Given the description of an element on the screen output the (x, y) to click on. 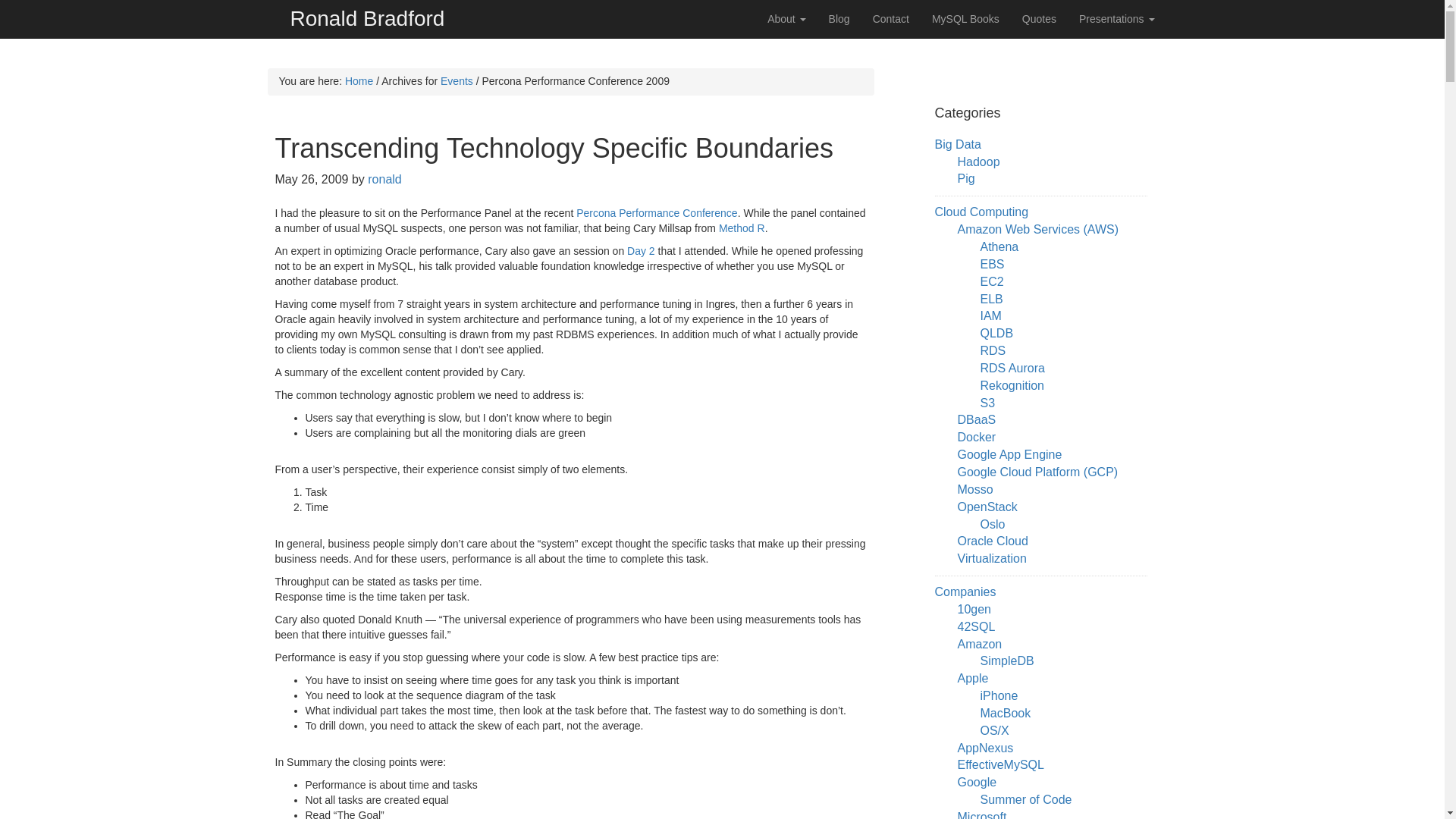
Ronald Bradford (368, 18)
Contact (890, 18)
Home (358, 80)
Method R (742, 227)
About (785, 18)
Quotes (1038, 18)
Transcending Technology Specific Boundaries (553, 147)
Blog (838, 18)
Percona Performance Conference (656, 213)
Presentations (1116, 18)
Events (457, 80)
ronald (384, 178)
MySQL Books (965, 18)
